Given the description of an element on the screen output the (x, y) to click on. 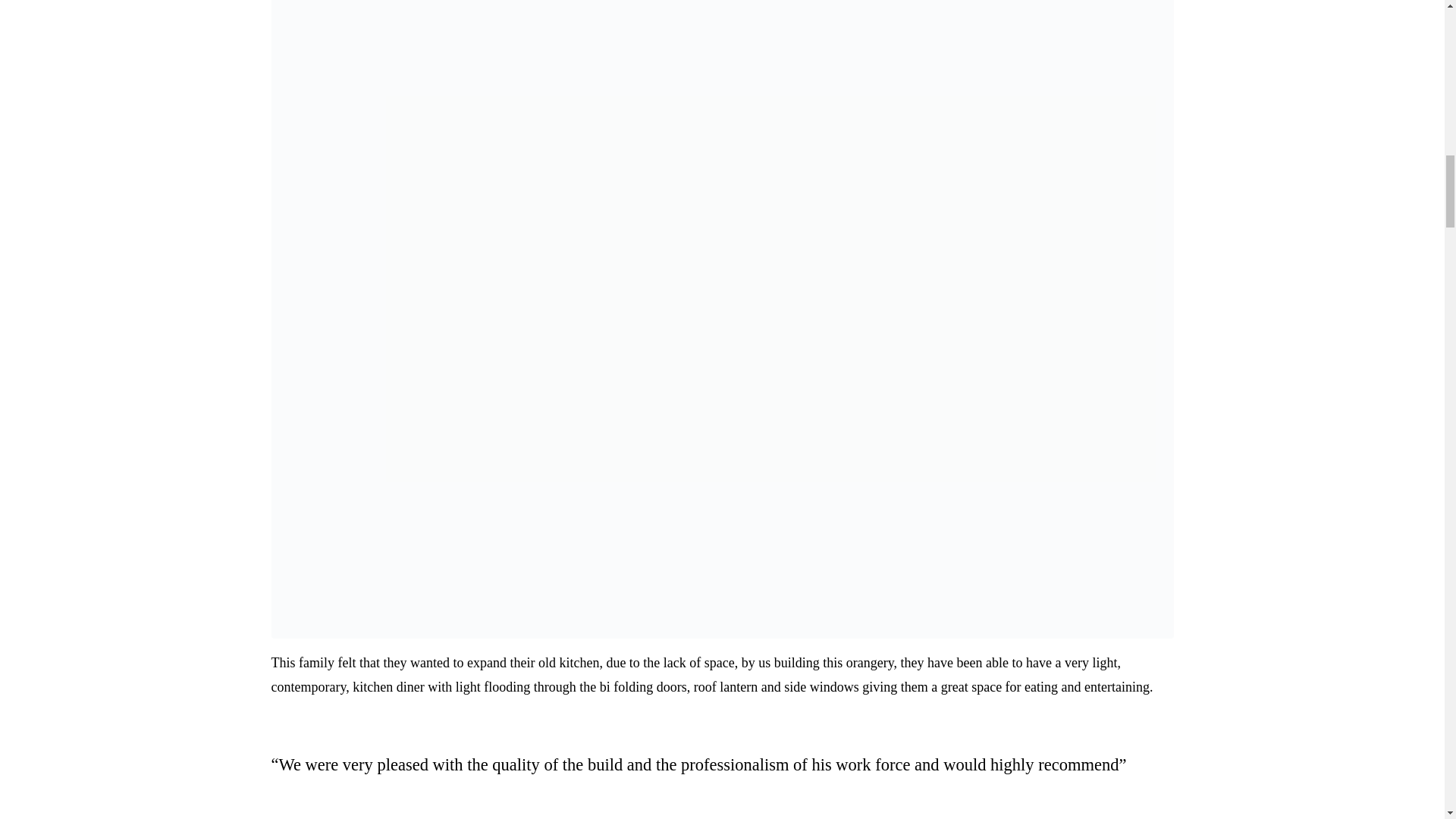
Orangery in Rugby (721, 297)
